Given the description of an element on the screen output the (x, y) to click on. 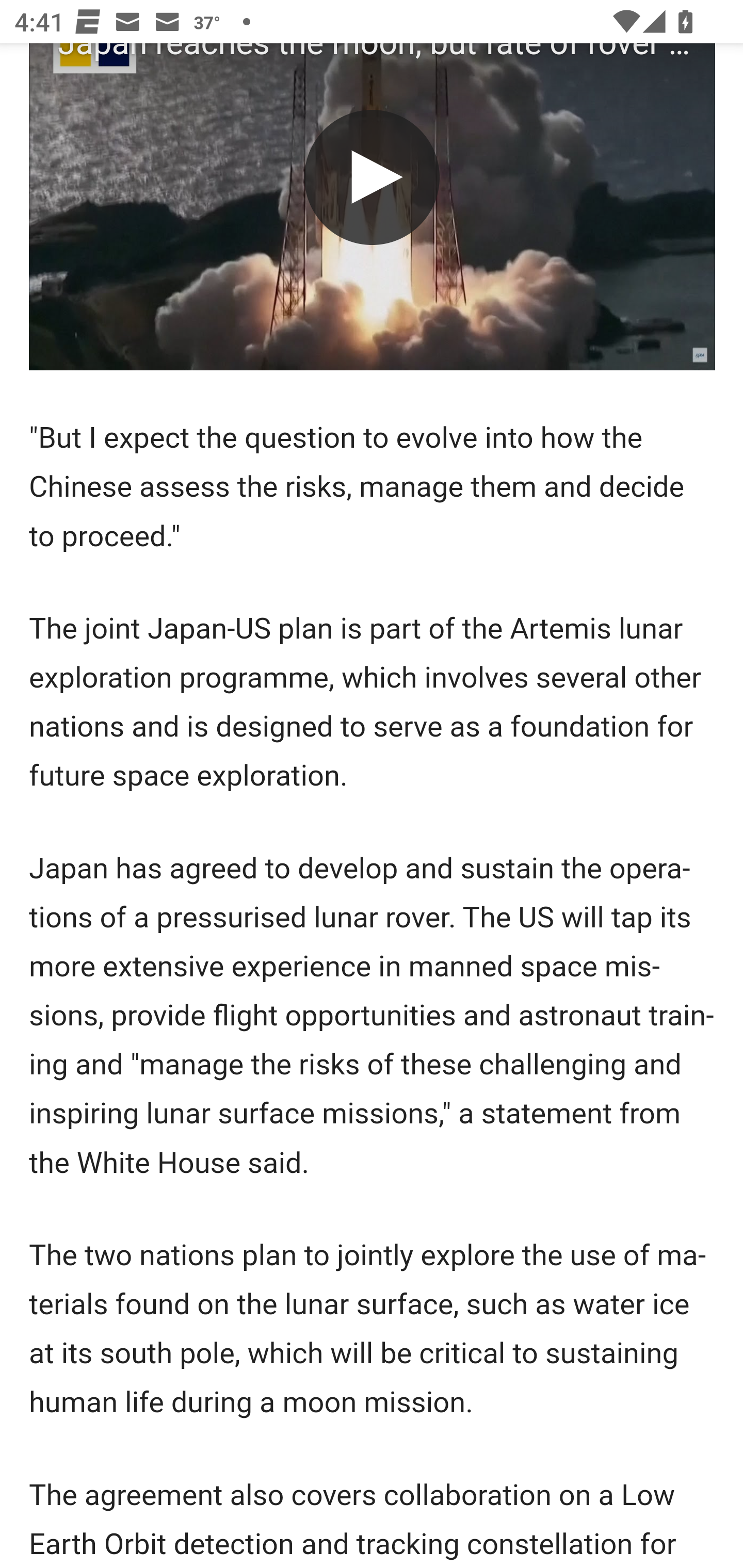
Play (371, 177)
